Given the description of an element on the screen output the (x, y) to click on. 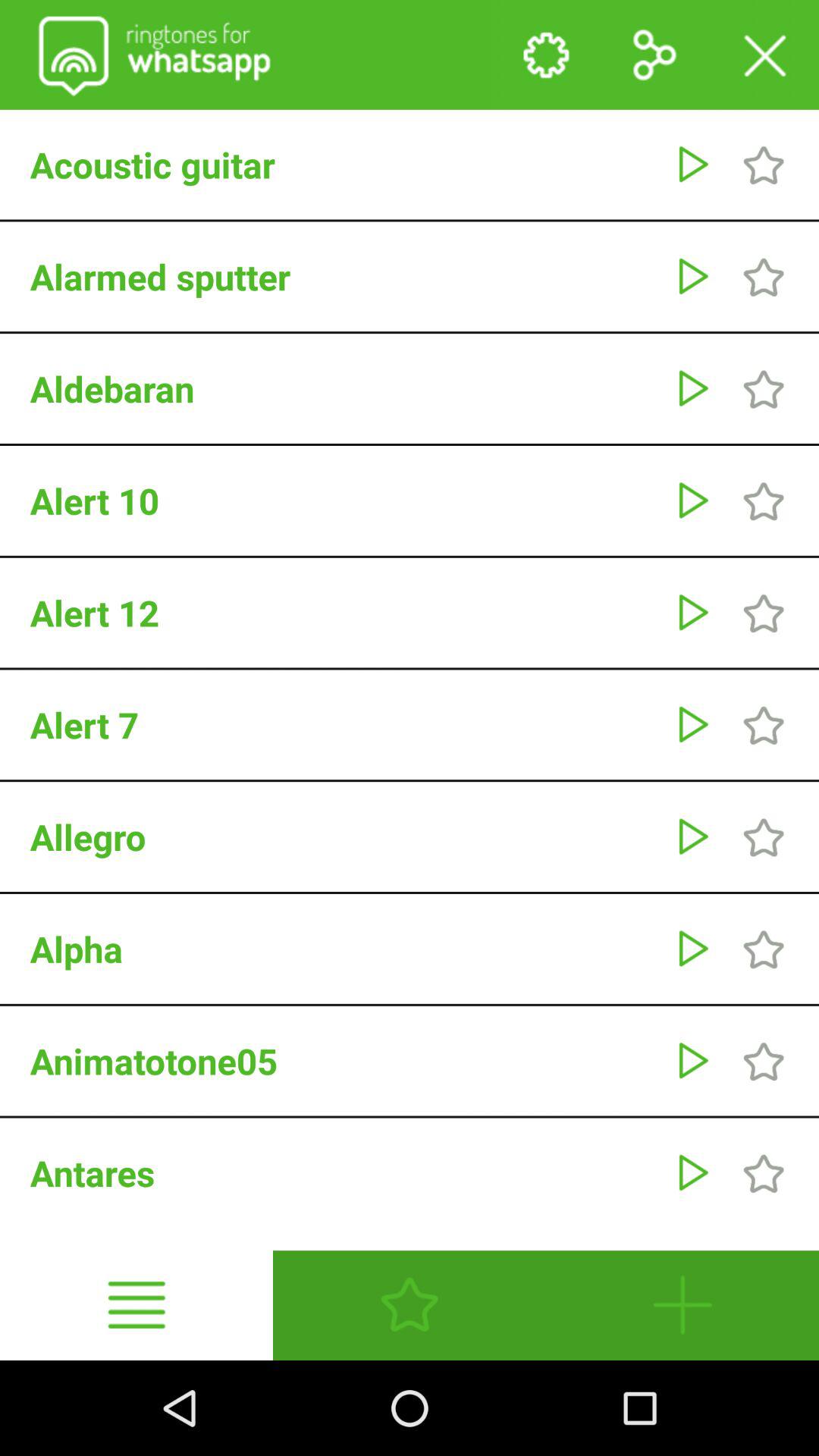
swipe to acoustic guitar (344, 164)
